Given the description of an element on the screen output the (x, y) to click on. 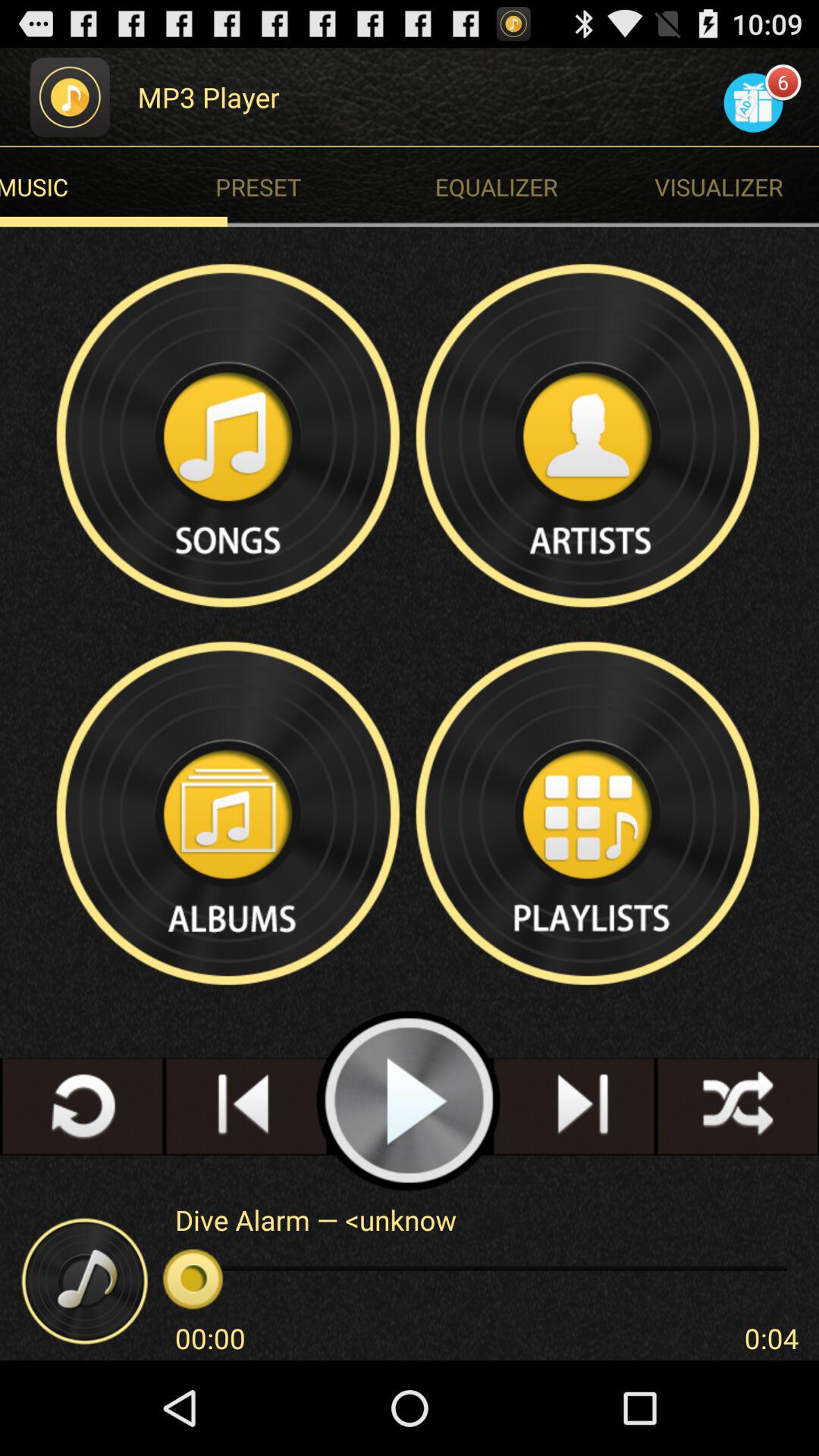
toggle playback (408, 1101)
